Given the description of an element on the screen output the (x, y) to click on. 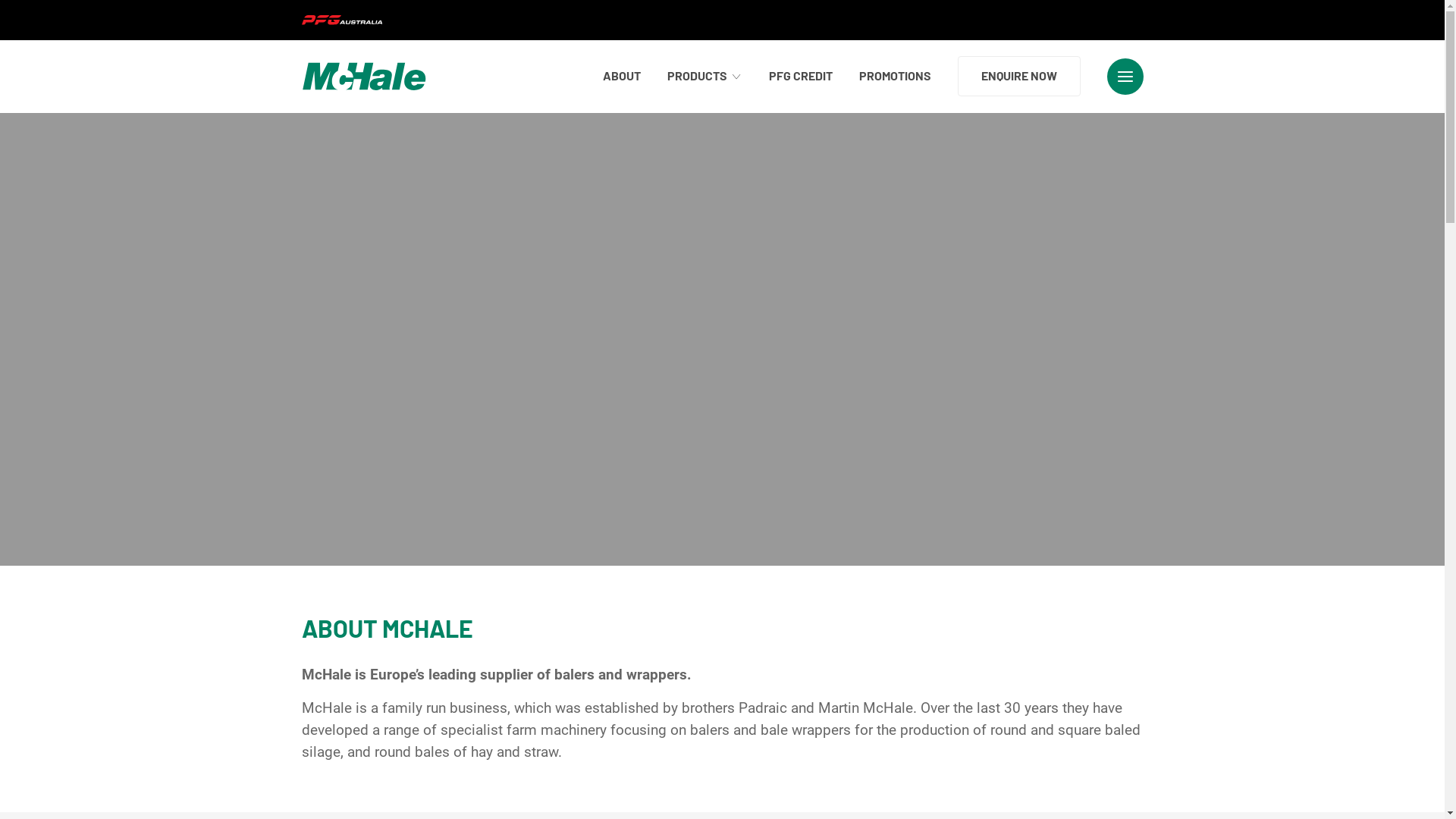
PROMOTIONS Element type: text (894, 76)
PRODUCTS Element type: text (704, 76)
ABOUT Element type: text (621, 76)
ENQUIRE NOW Element type: text (1018, 76)
PFG CREDIT Element type: text (800, 76)
